Given the description of an element on the screen output the (x, y) to click on. 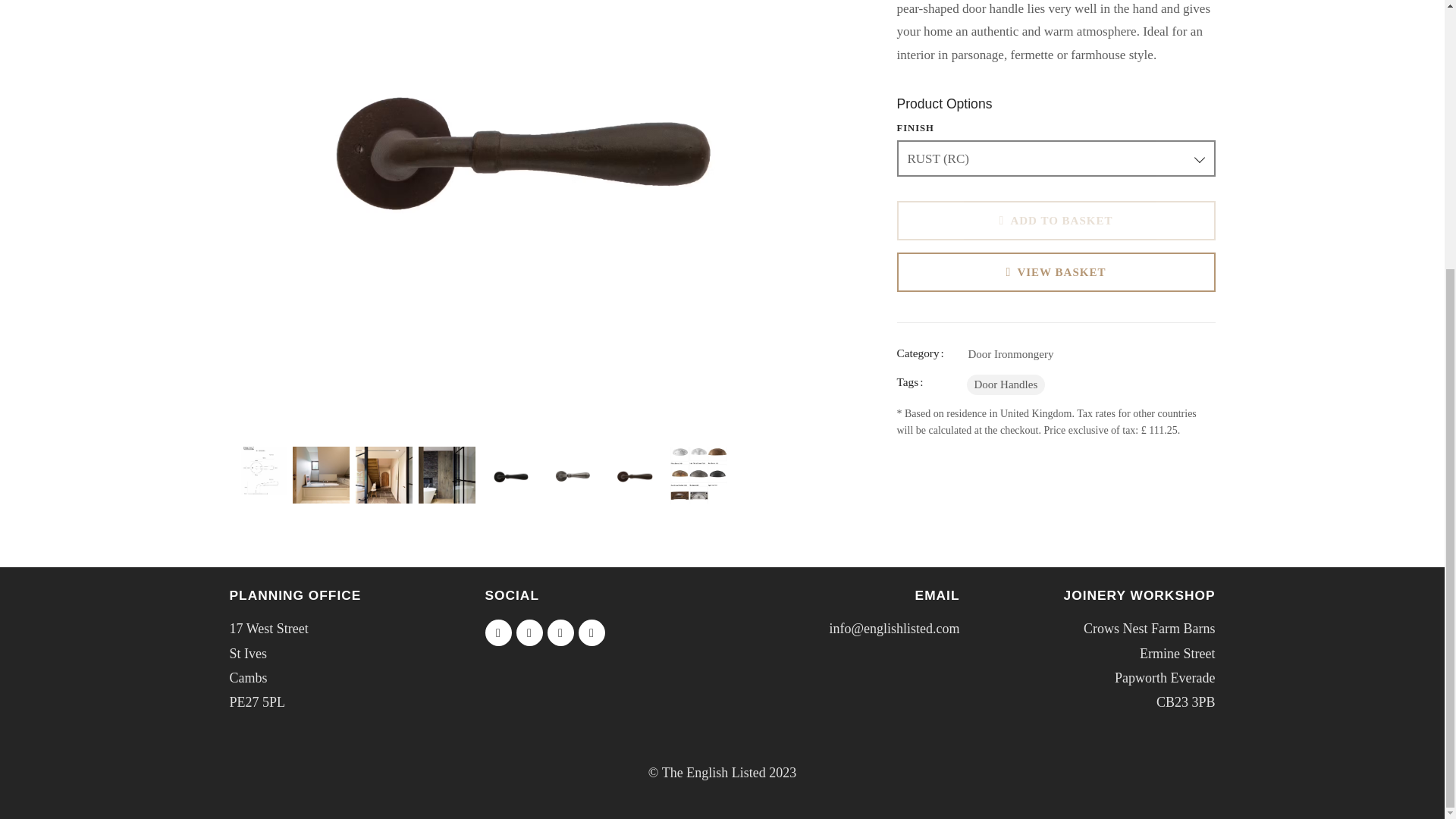
Door Ironmongery (1010, 354)
ADD TO BASKET (1055, 220)
Door Handles (1005, 384)
VIEW BASKET (1055, 271)
